Given the description of an element on the screen output the (x, y) to click on. 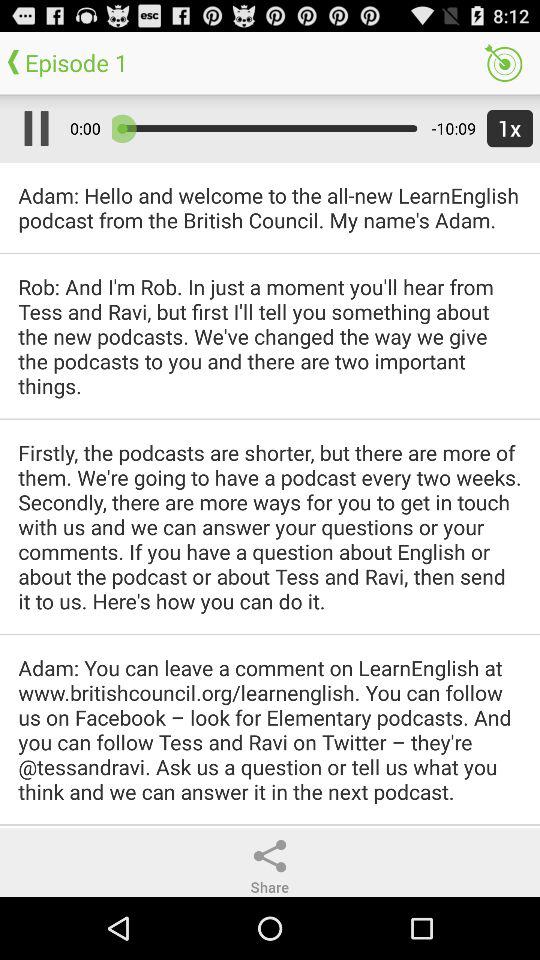
turn on app next to 0:00 icon (32, 128)
